Given the description of an element on the screen output the (x, y) to click on. 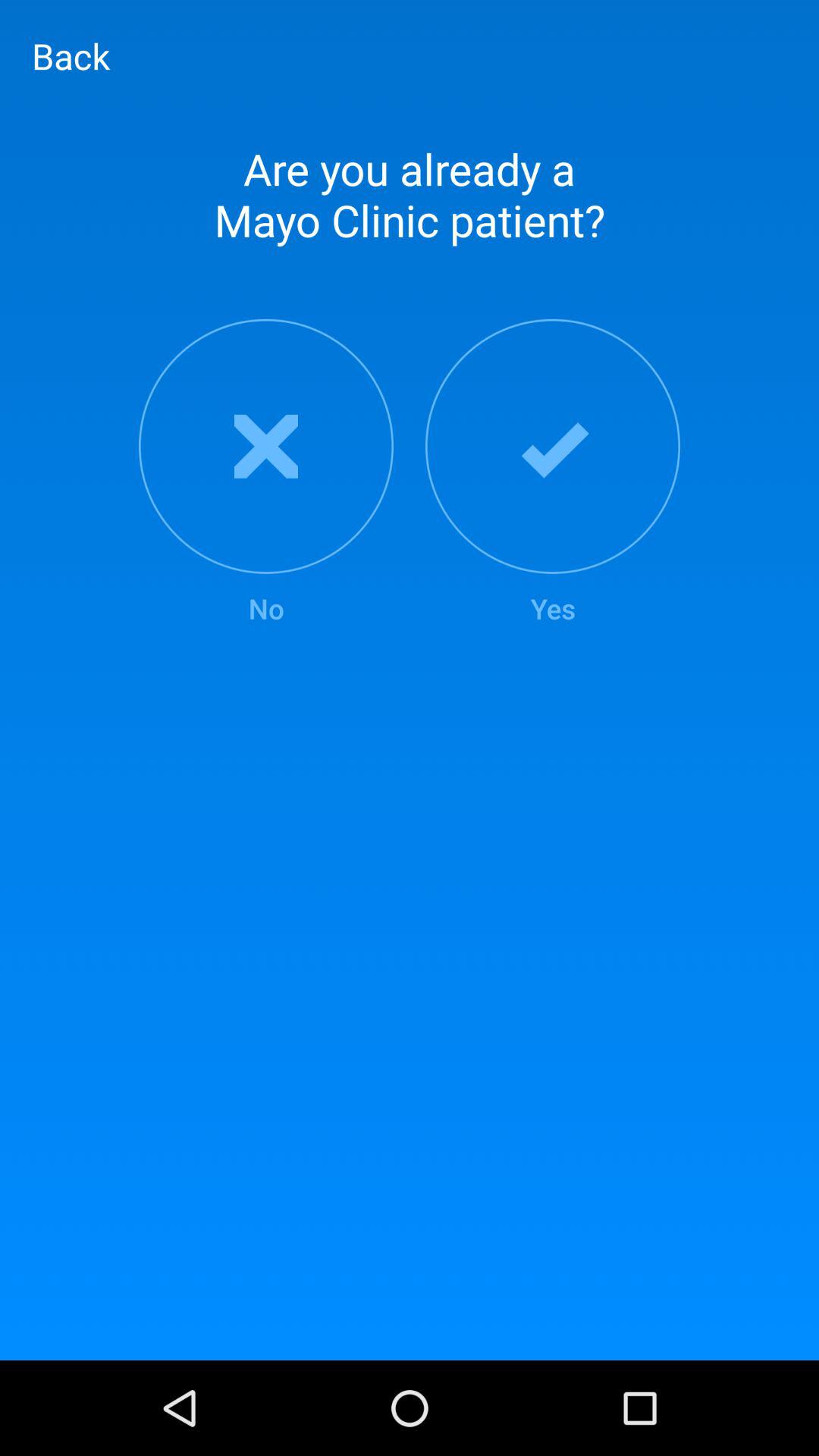
press the item next to the yes icon (265, 473)
